Given the description of an element on the screen output the (x, y) to click on. 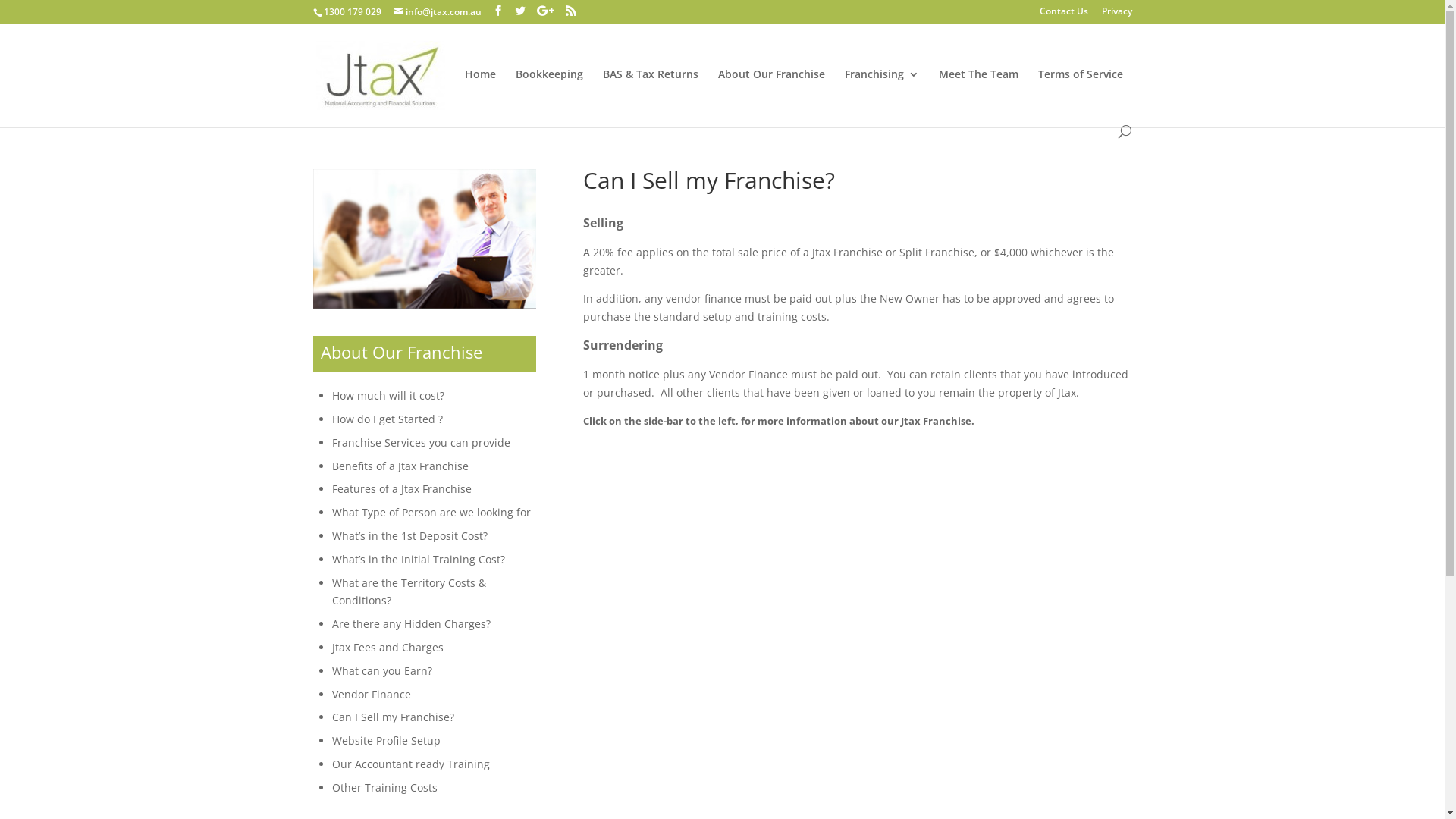
Other Training Costs Element type: text (384, 787)
Can I Sell my Franchise? Element type: text (393, 716)
Terms of Service Element type: text (1079, 97)
info@jtax.com.au Element type: text (436, 11)
About Our Franchise Element type: text (770, 97)
What are the Territory Costs & Conditions? Element type: text (409, 591)
Jtax Fees and Charges Element type: text (387, 647)
Bookkeeping Element type: text (549, 97)
Features of a Jtax Franchise Element type: text (401, 488)
Home Element type: text (479, 97)
Meet The Team Element type: text (978, 97)
How much will it cost? Element type: text (388, 395)
What can you Earn? Element type: text (382, 670)
BAS & Tax Returns Element type: text (649, 97)
What Type of Person are we looking for Element type: text (431, 512)
Franchise Services you can provide Element type: text (421, 442)
Privacy Element type: text (1116, 14)
Franchising Element type: text (881, 97)
Vendor Finance Element type: text (371, 694)
Contact Us Element type: text (1062, 14)
Are there any Hidden Charges? Element type: text (411, 623)
How do I get Started ? Element type: text (387, 418)
Website Profile Setup Element type: text (386, 740)
Benefits of a Jtax Franchise Element type: text (400, 465)
Our Accountant ready Training Element type: text (410, 763)
